Given the description of an element on the screen output the (x, y) to click on. 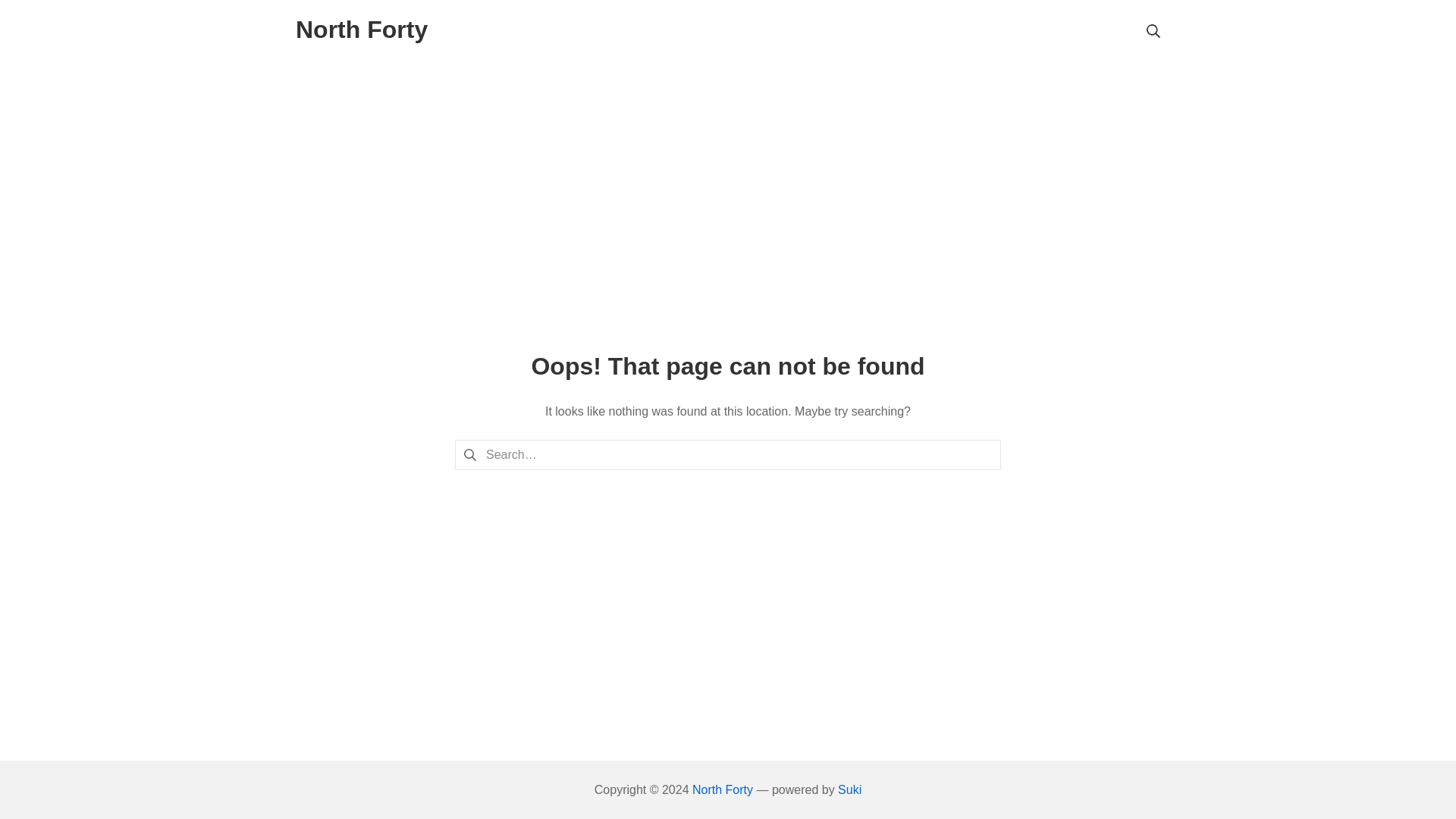
Suki (849, 789)
Search (35, 15)
North Forty (361, 29)
North Forty (722, 789)
